Given the description of an element on the screen output the (x, y) to click on. 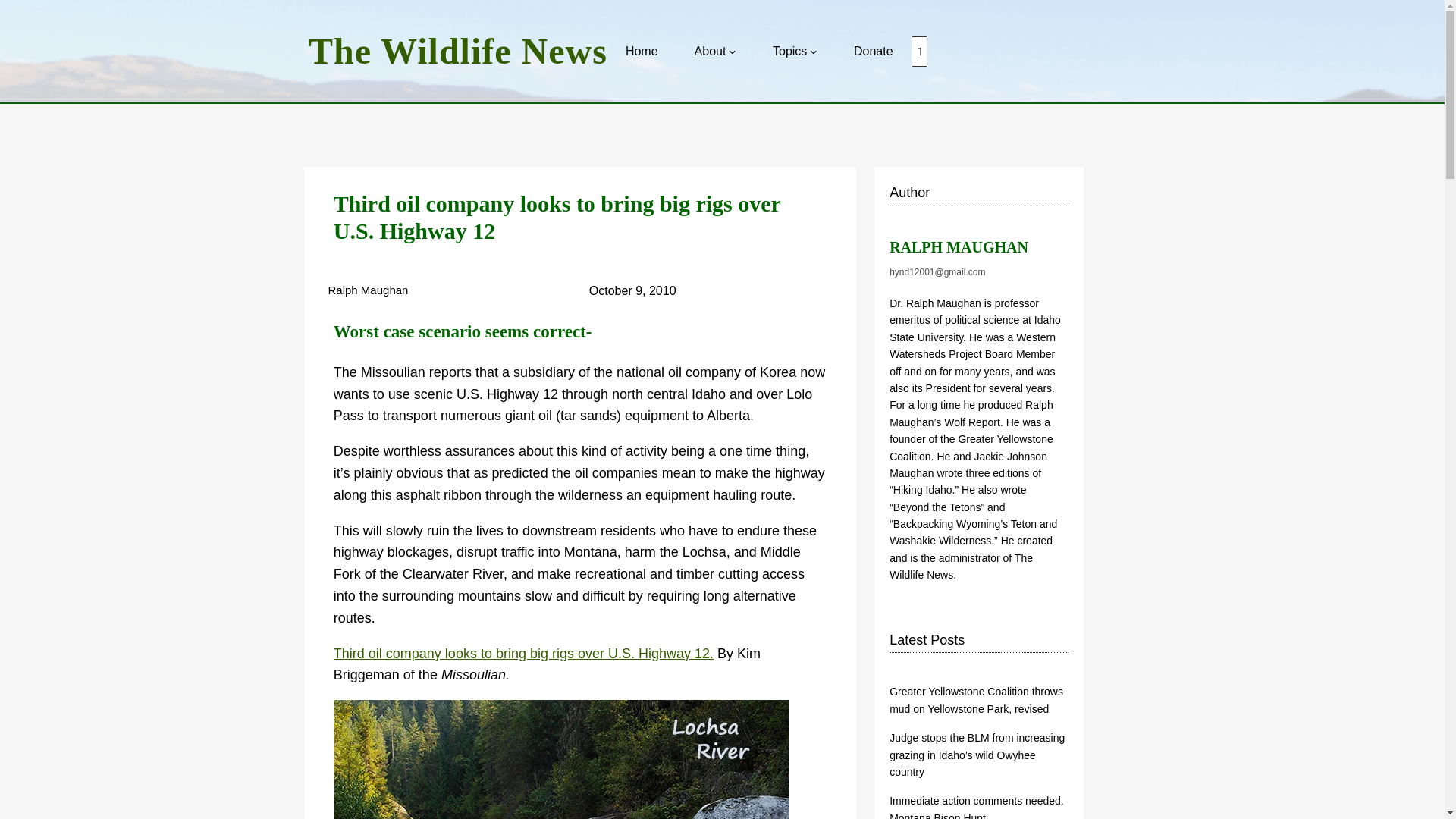
The Wildlife News (457, 51)
About (710, 51)
The Lochsa River (561, 759)
Topics (789, 51)
Home (642, 51)
